Given the description of an element on the screen output the (x, y) to click on. 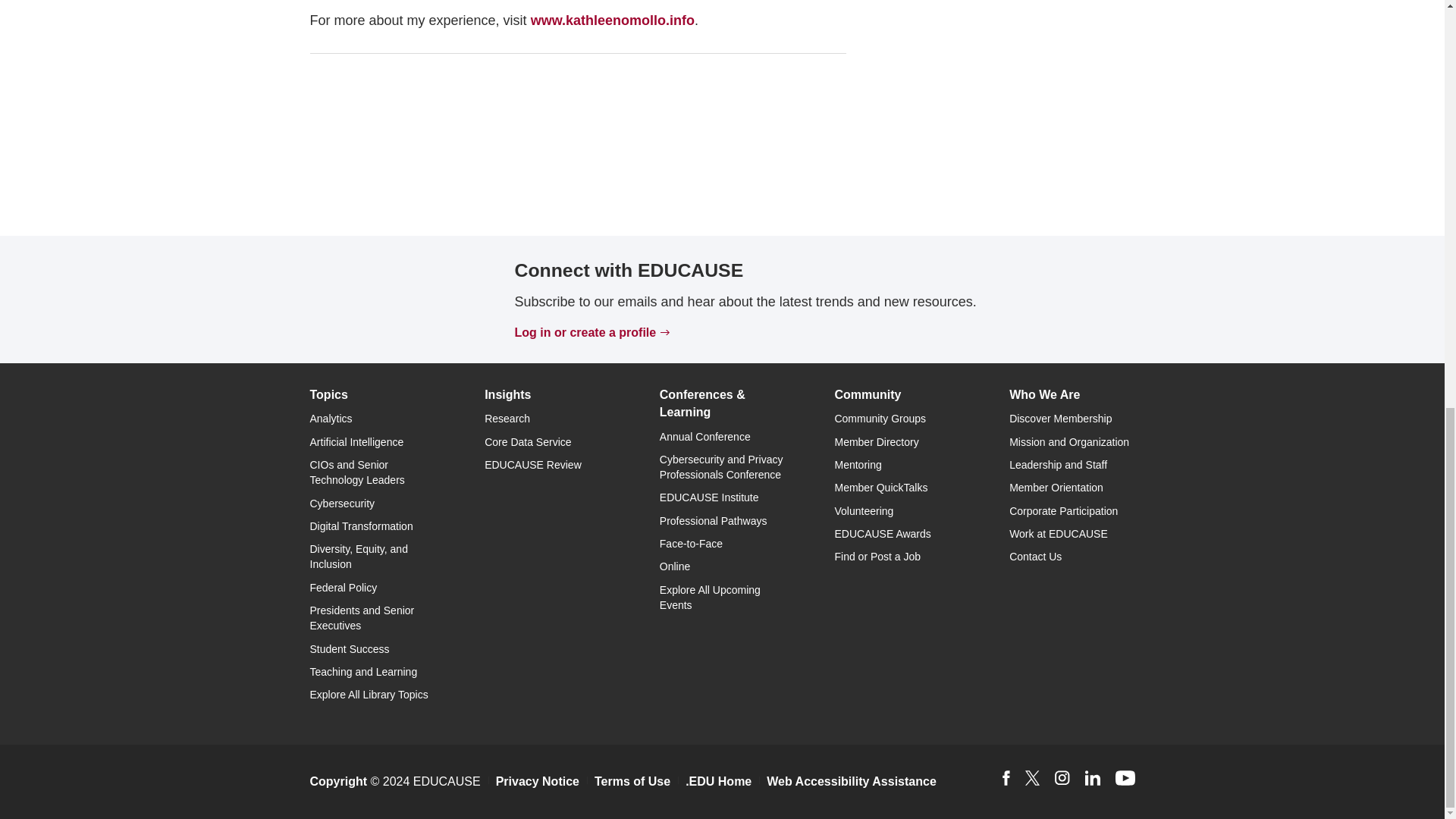
EDUCAUSE on YouTube (1125, 777)
EDUCAUSE (384, 298)
Educause.edu (384, 297)
